Given the description of an element on the screen output the (x, y) to click on. 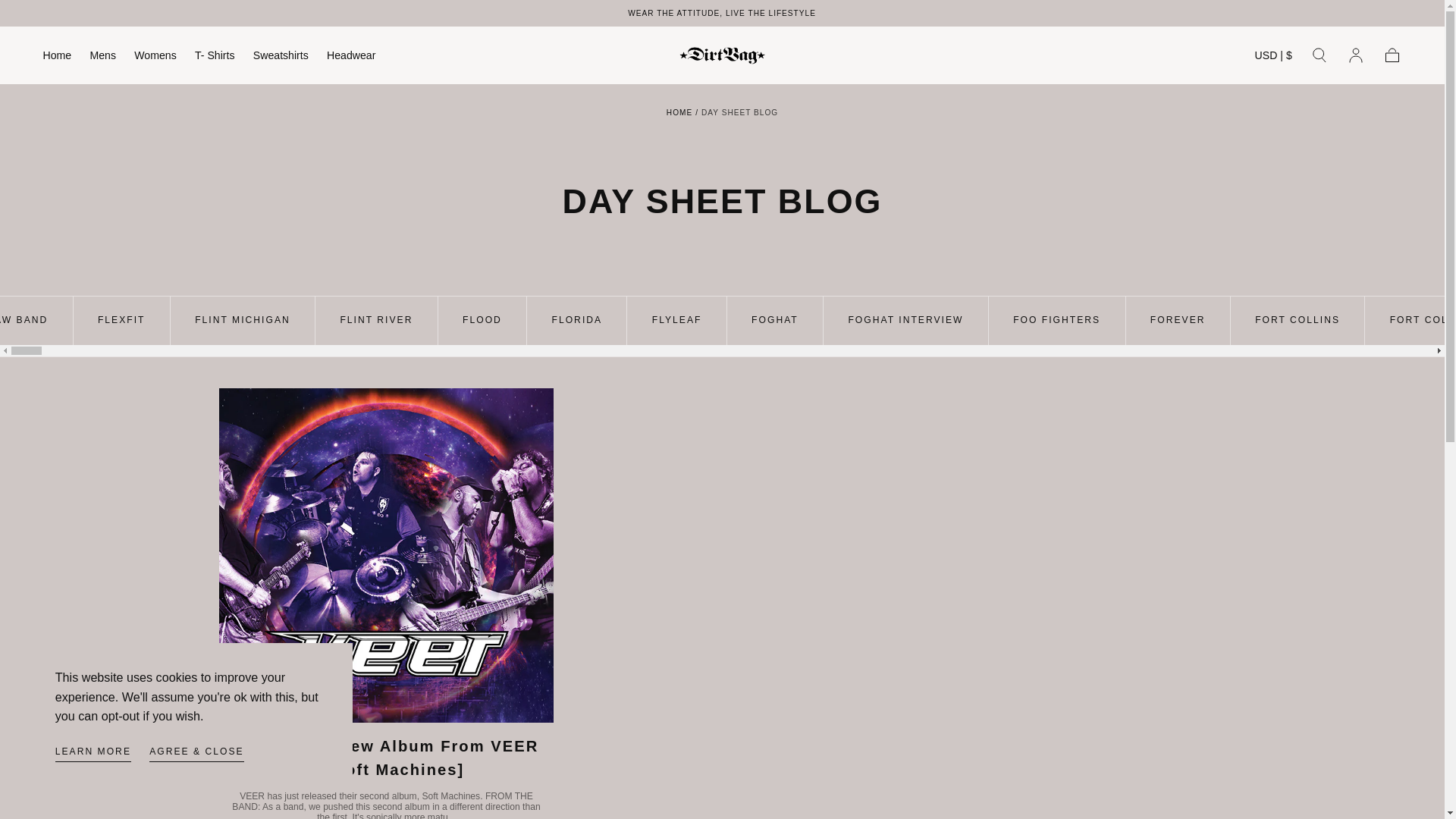
Womens (154, 57)
Cart (1391, 54)
Headwear (350, 57)
T- Shirts (214, 57)
Sweatshirts (280, 57)
Home (57, 57)
Womens (154, 57)
HOME (679, 112)
Cart (1391, 54)
T- Shirts  (214, 57)
